Given the description of an element on the screen output the (x, y) to click on. 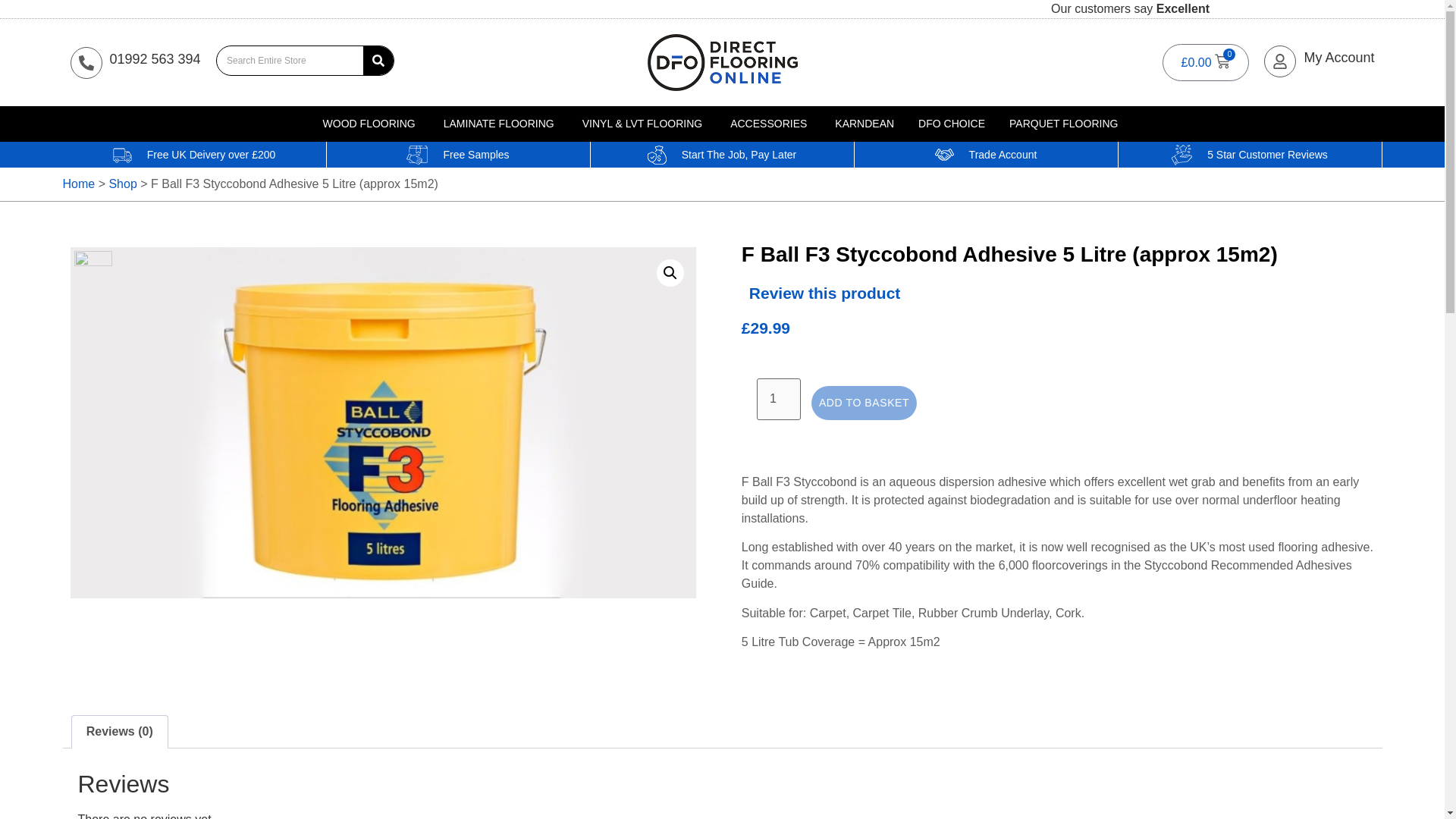
WOOD FLOORING (368, 123)
1 (778, 399)
My Account (1338, 57)
01992 563 394 (154, 58)
LAMINATE FLOORING (499, 123)
Customer reviews powered by Trustpilot (1323, 9)
